Given the description of an element on the screen output the (x, y) to click on. 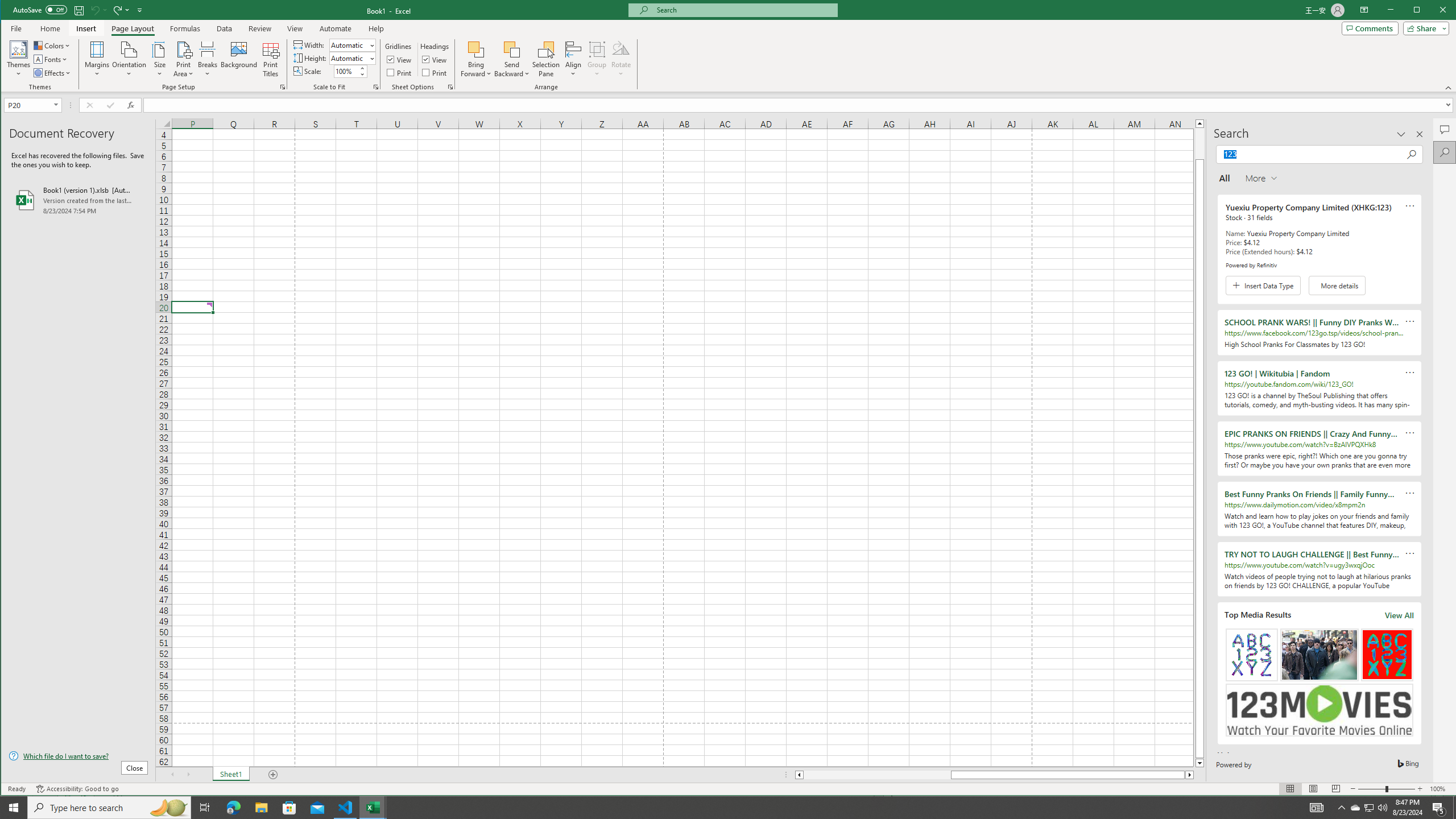
Q2790: 100% (1382, 807)
Effects (53, 72)
Running applications (717, 807)
Page Setup (375, 86)
Page left (876, 774)
Action Center, 5 new notifications (1439, 807)
Type here to search (108, 807)
